Given the description of an element on the screen output the (x, y) to click on. 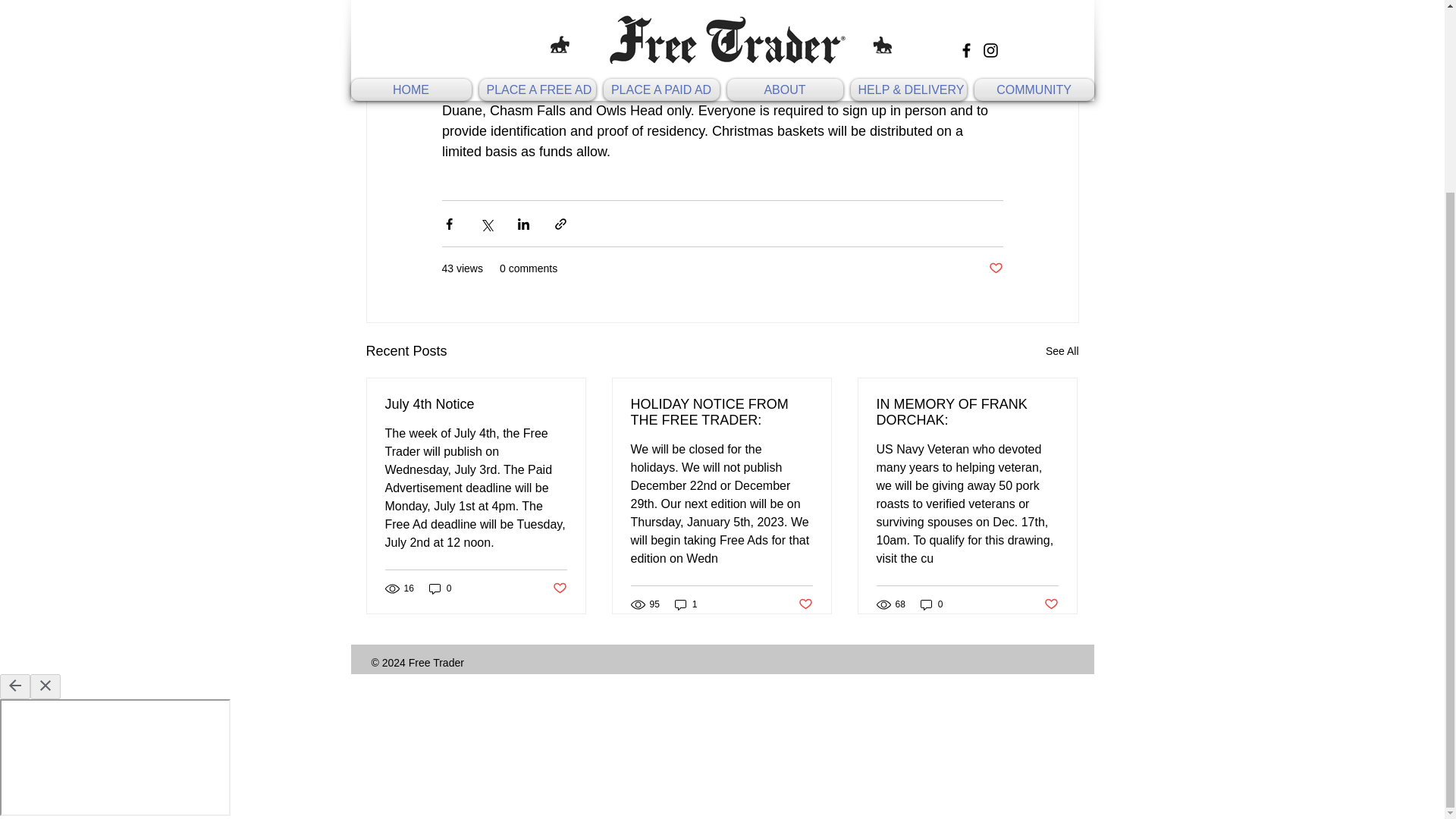
July 4th Notice (476, 404)
Post not marked as liked (995, 268)
0 (931, 604)
See All (1061, 351)
IN MEMORY OF FRANK DORCHAK: (967, 412)
1 (685, 604)
Post not marked as liked (558, 588)
HOLIDAY NOTICE FROM THE FREE TRADER: (721, 412)
0 (440, 587)
Post not marked as liked (1050, 603)
